Given the description of an element on the screen output the (x, y) to click on. 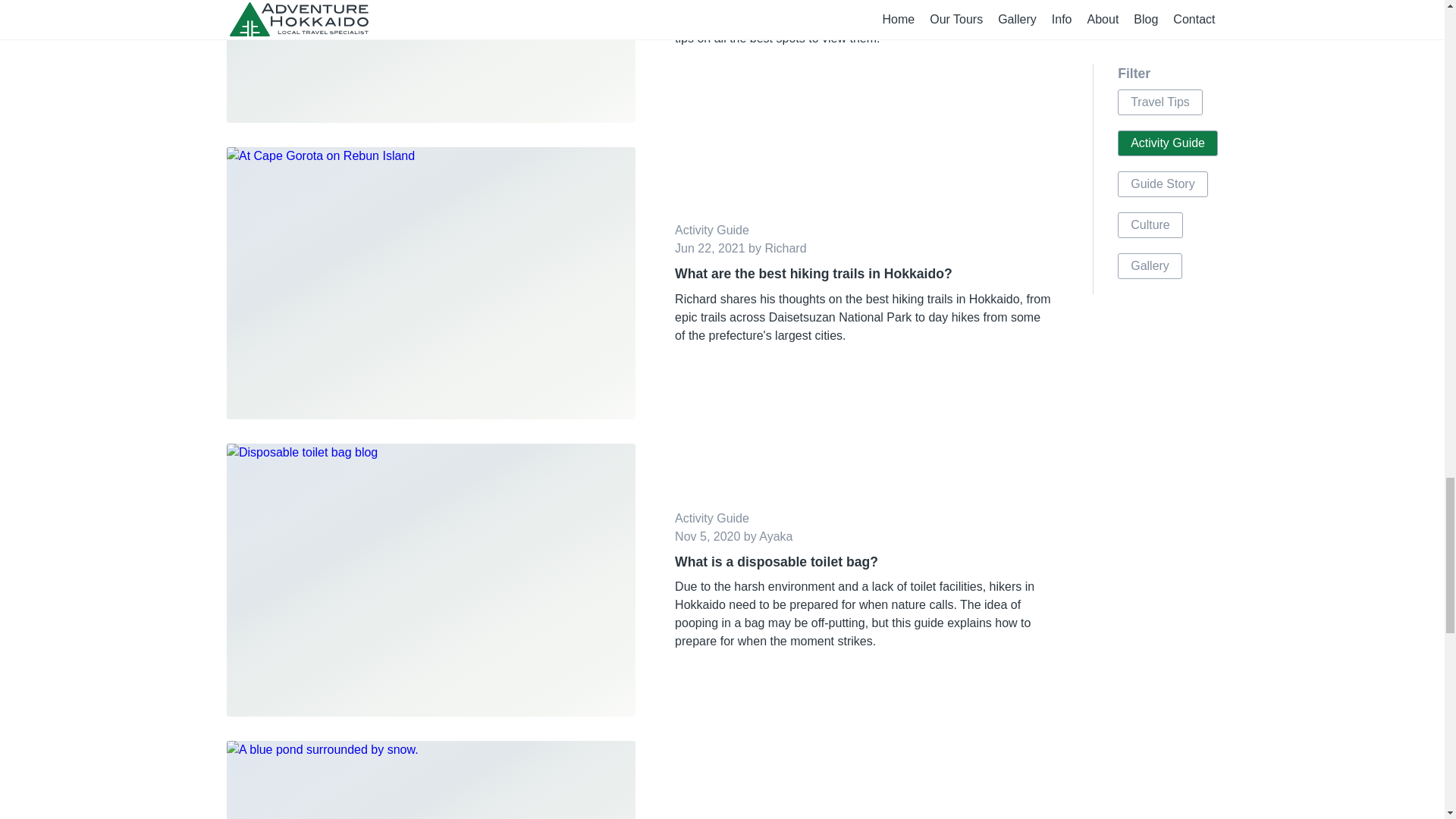
What are the best hiking trails in Hokkaido? (863, 273)
What is a disposable toilet bag? (863, 561)
